Given the description of an element on the screen output the (x, y) to click on. 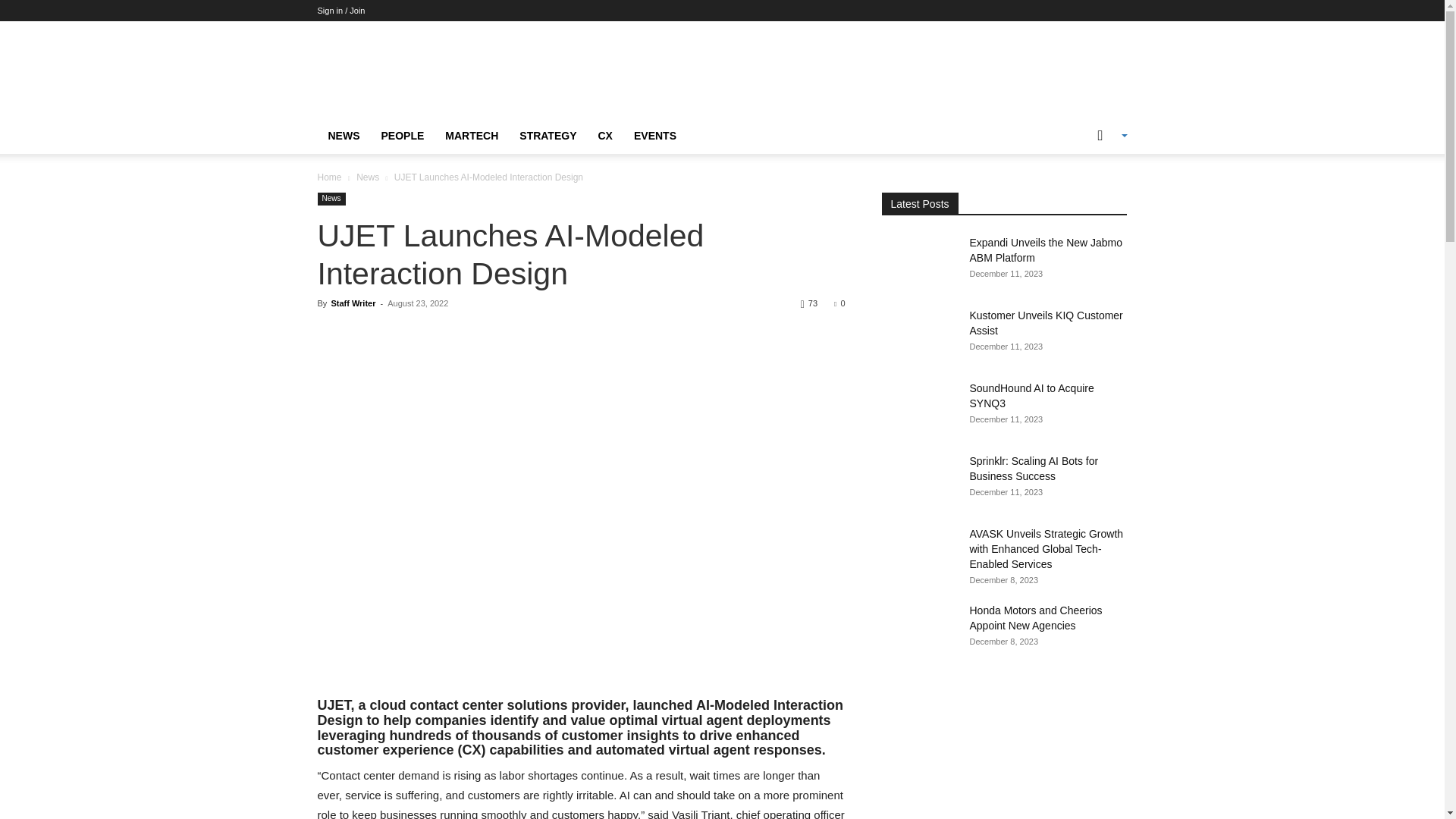
NEWS (343, 135)
News (331, 198)
EVENTS (655, 135)
0 (839, 302)
Staff Writer (352, 302)
STRATEGY (547, 135)
Home (328, 176)
News (367, 176)
View all posts in News (367, 176)
MARTECH (470, 135)
